Given the description of an element on the screen output the (x, y) to click on. 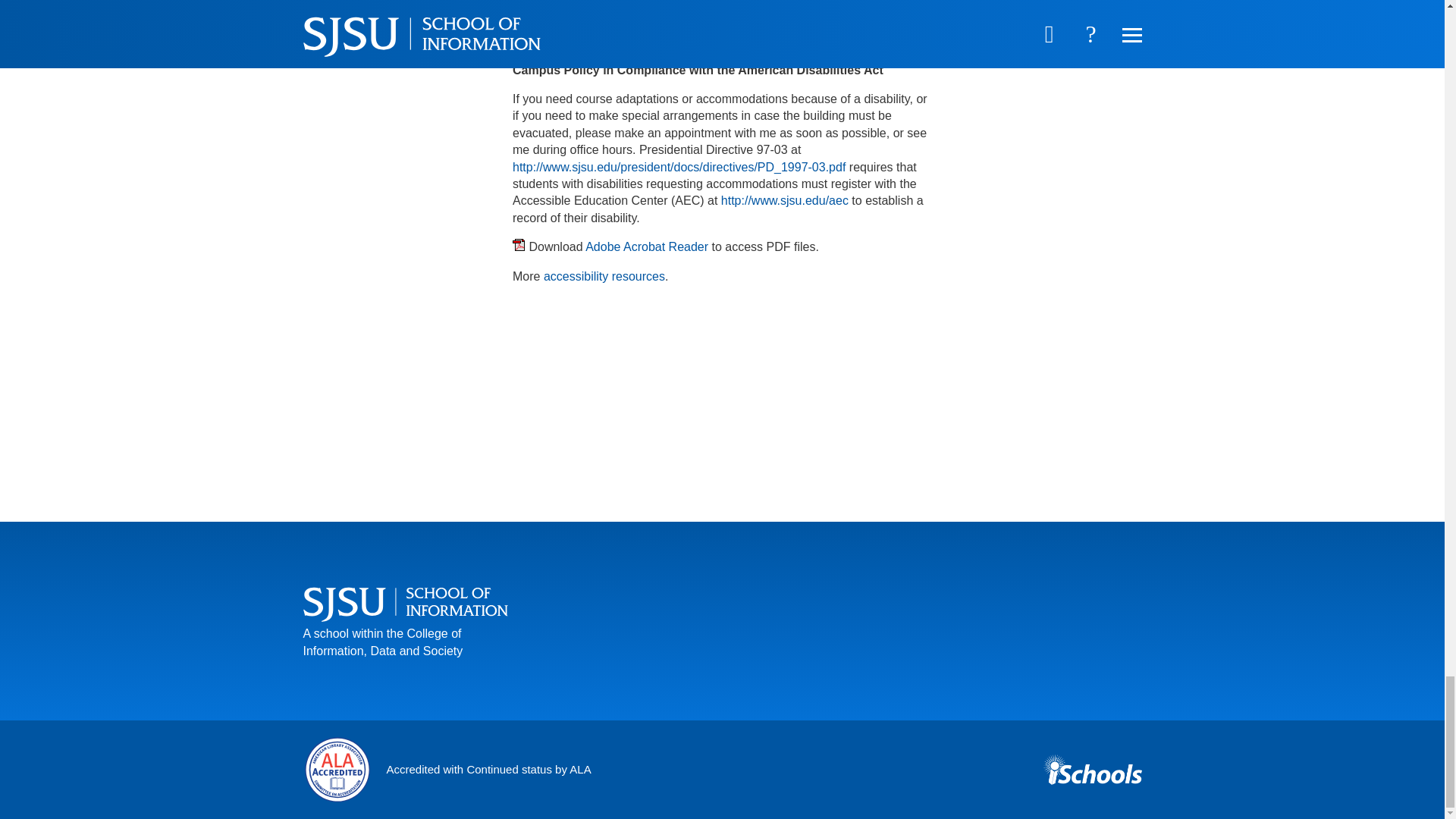
University Policy Ethical Conduct (609, 40)
